Given the description of an element on the screen output the (x, y) to click on. 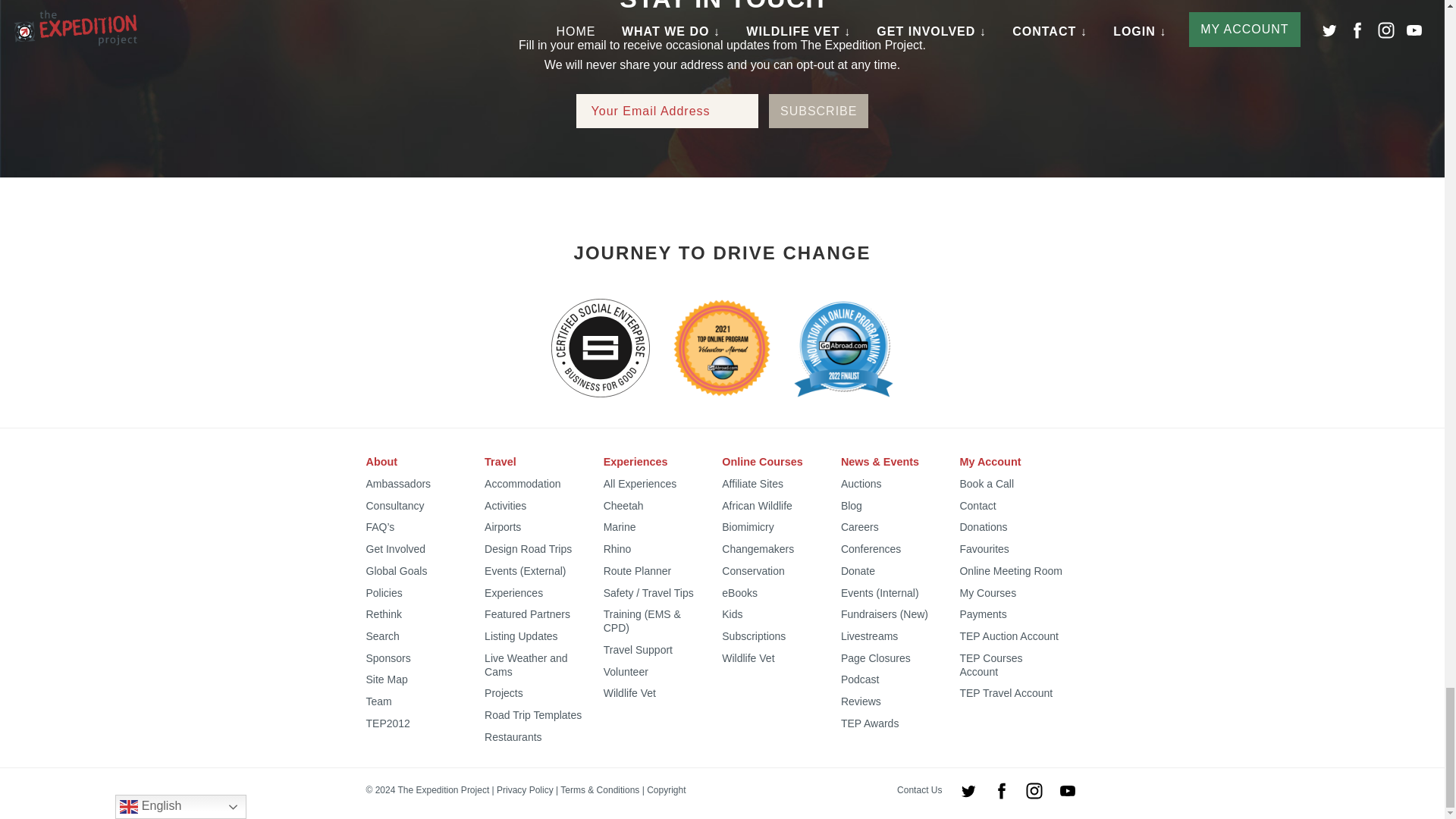
Subscribe (817, 111)
